Given the description of an element on the screen output the (x, y) to click on. 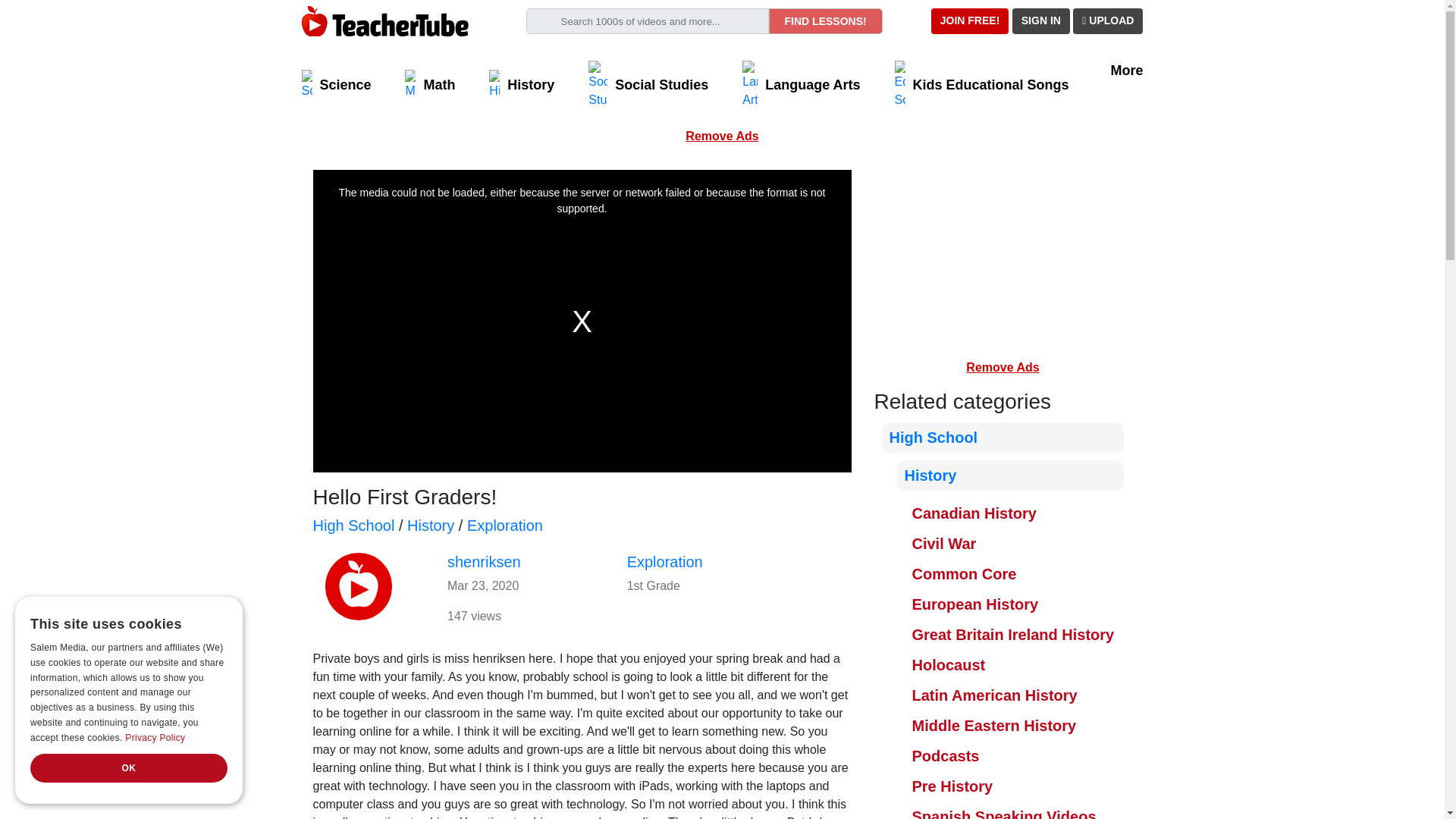
Math (429, 84)
History (521, 84)
Language Arts (801, 84)
Science (336, 84)
Remove Ads (721, 135)
Social Studies (647, 84)
